Given the description of an element on the screen output the (x, y) to click on. 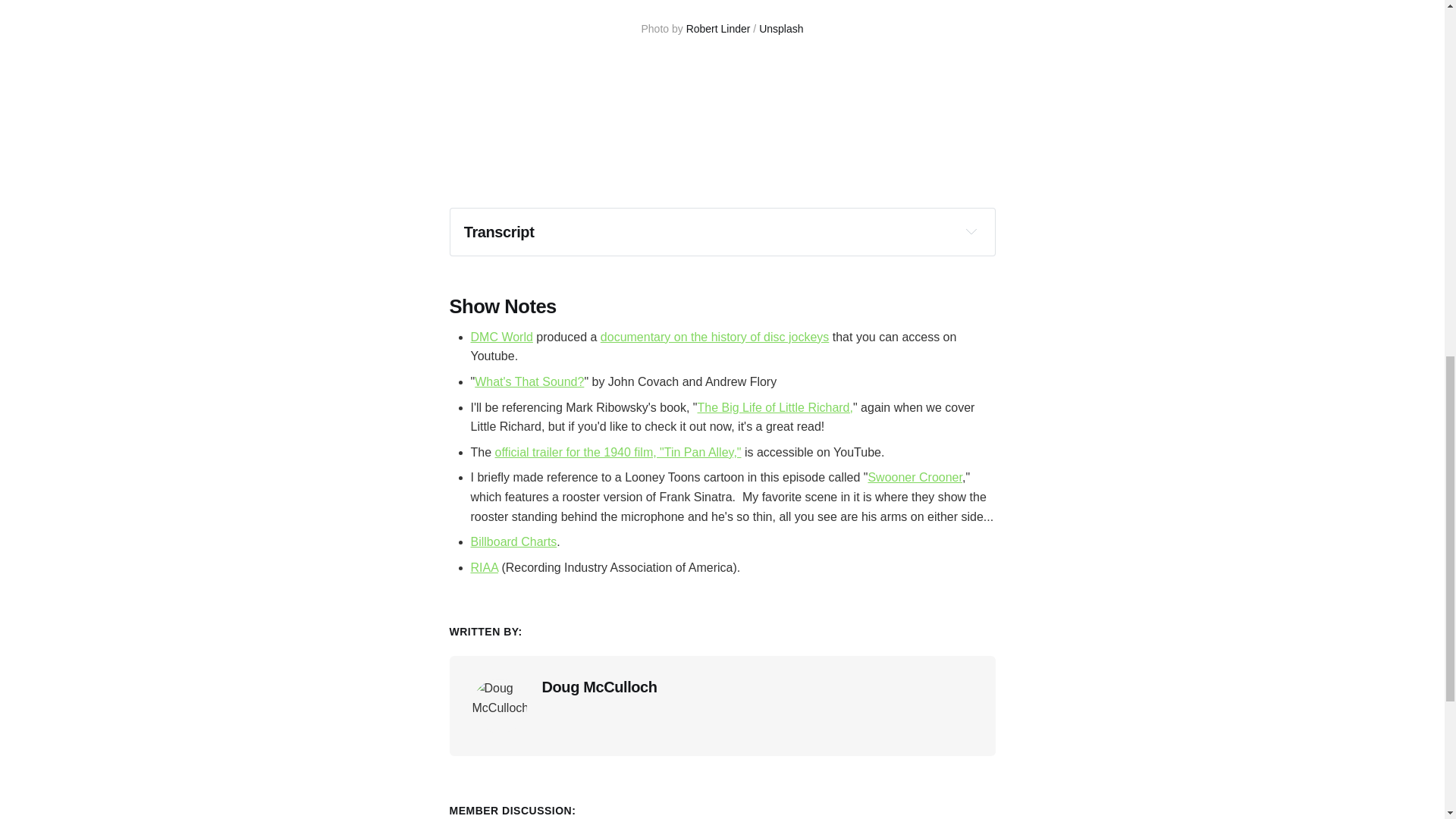
Unsplash (780, 28)
Billboard Charts (513, 541)
The Big Life of Little Richard, (775, 407)
Swooner Crooner (914, 477)
What's That Sound? (528, 381)
Doug McCulloch (598, 686)
Robert Linder (718, 28)
DMC World (501, 336)
documentary on the history of disc jockeys (713, 336)
RIAA (483, 567)
